Given the description of an element on the screen output the (x, y) to click on. 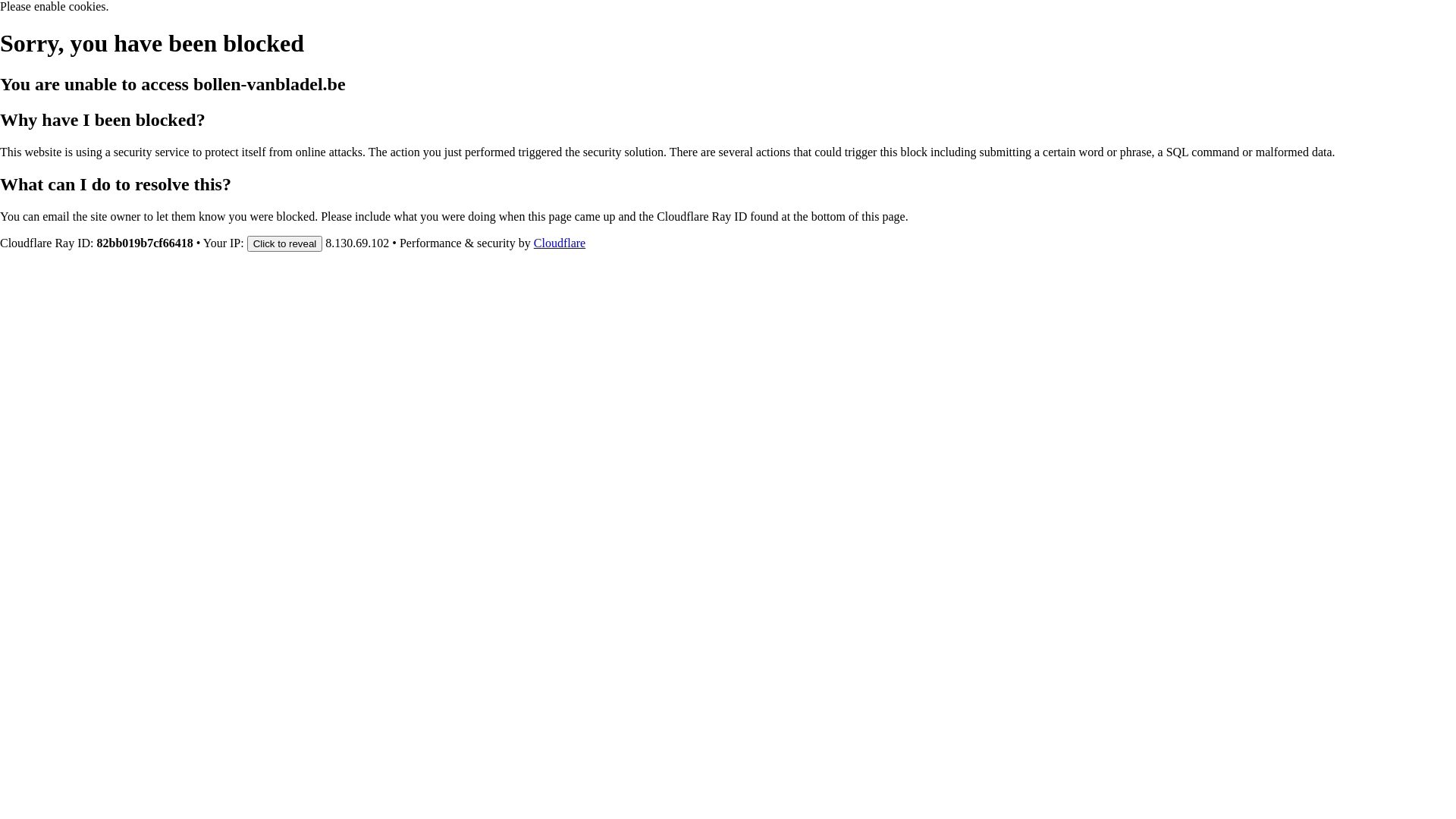
Cloudflare Element type: text (559, 242)
Click to reveal Element type: text (285, 243)
